Given the description of an element on the screen output the (x, y) to click on. 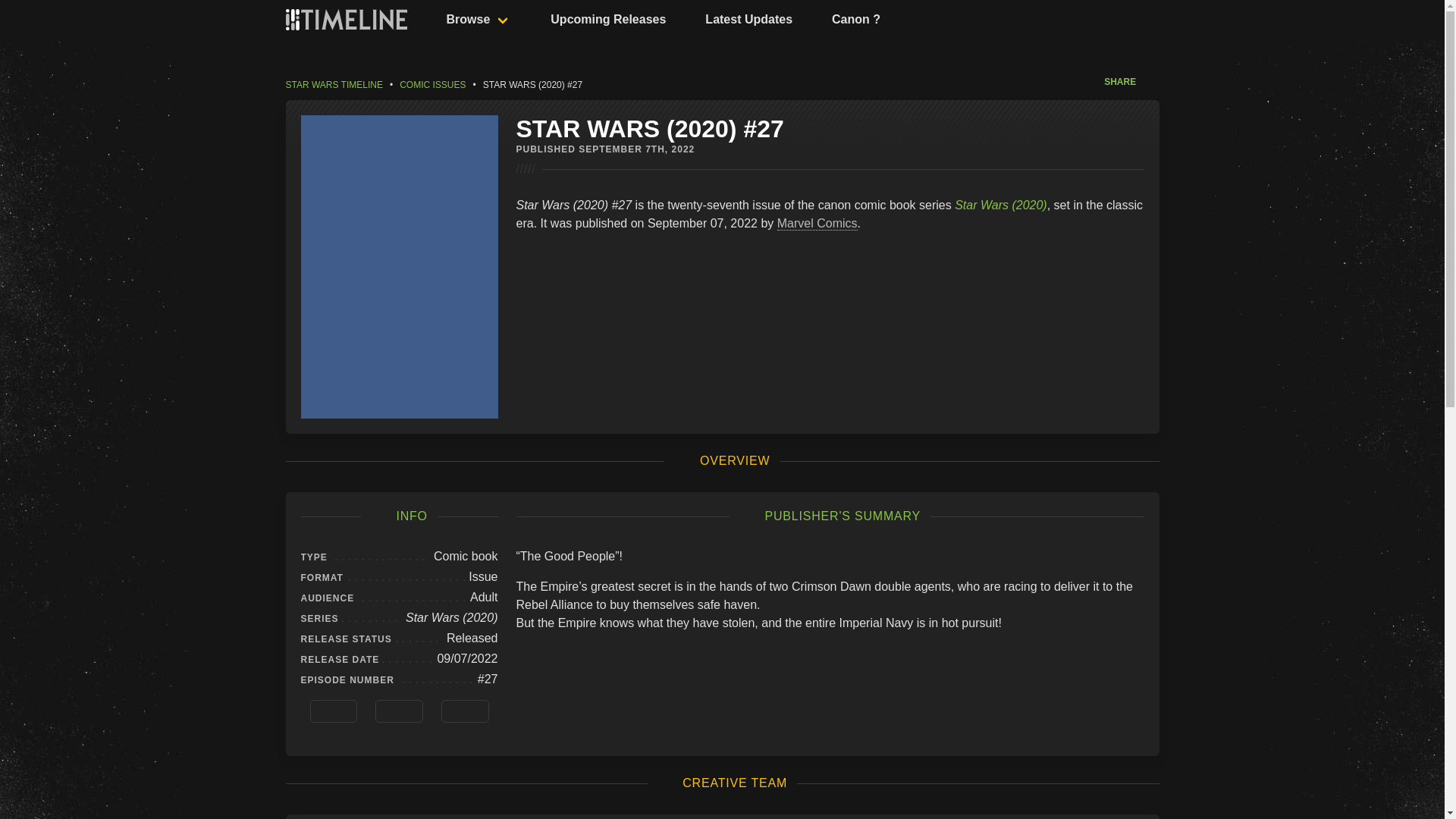
Next (465, 711)
SHARE (1130, 85)
Browse (466, 19)
Canon ? (845, 19)
Upcoming Releases (597, 19)
Latest Updates (738, 19)
STAR WARS TIMELINE (336, 84)
Marvel Comics (817, 223)
Previous work in the serie (332, 711)
View Series (399, 711)
Previous (332, 711)
View Series (399, 711)
COMIC ISSUES (432, 84)
Next work in the serie (465, 711)
